Given the description of an element on the screen output the (x, y) to click on. 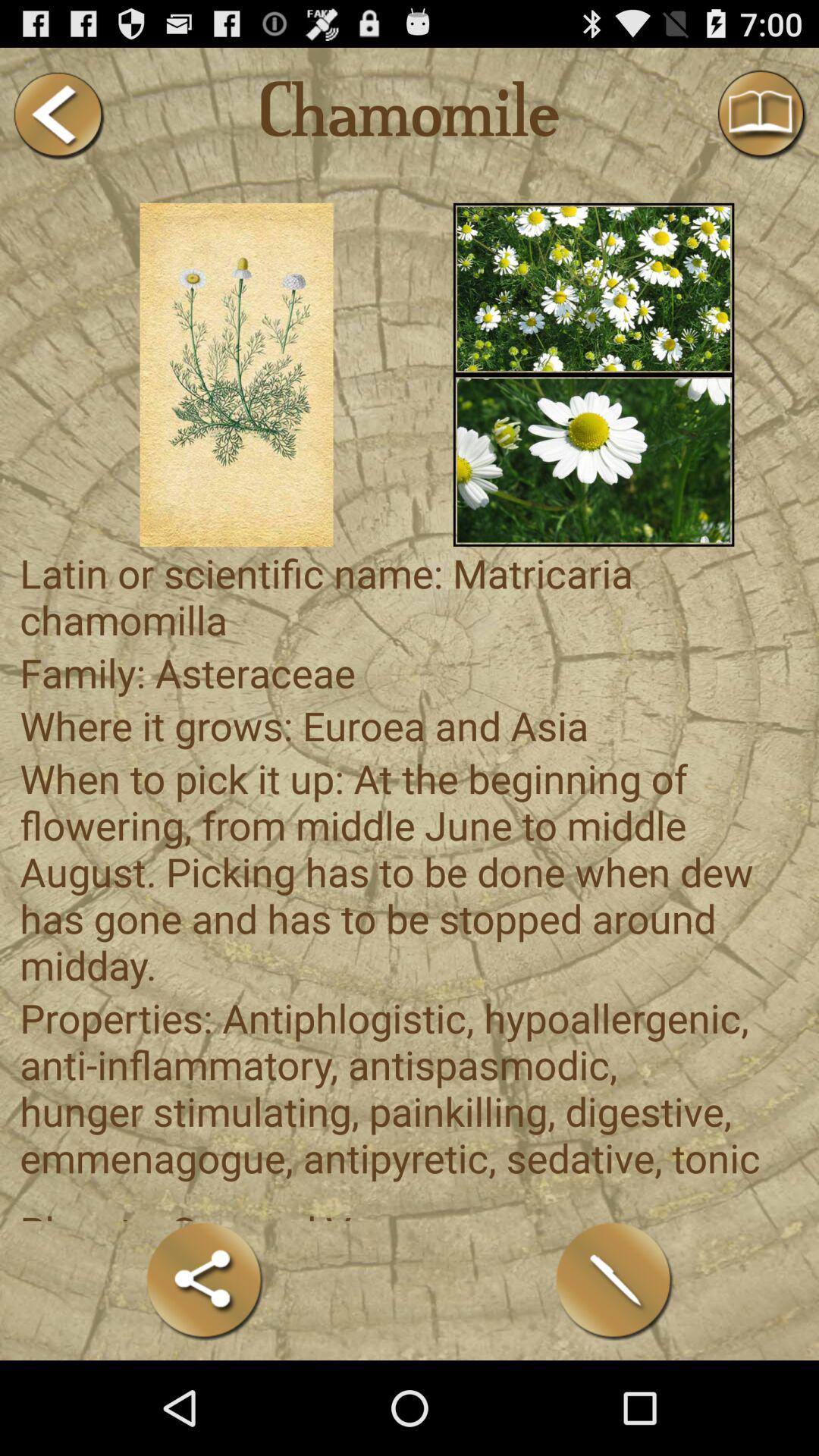
shows flower image (593, 288)
